Given the description of an element on the screen output the (x, y) to click on. 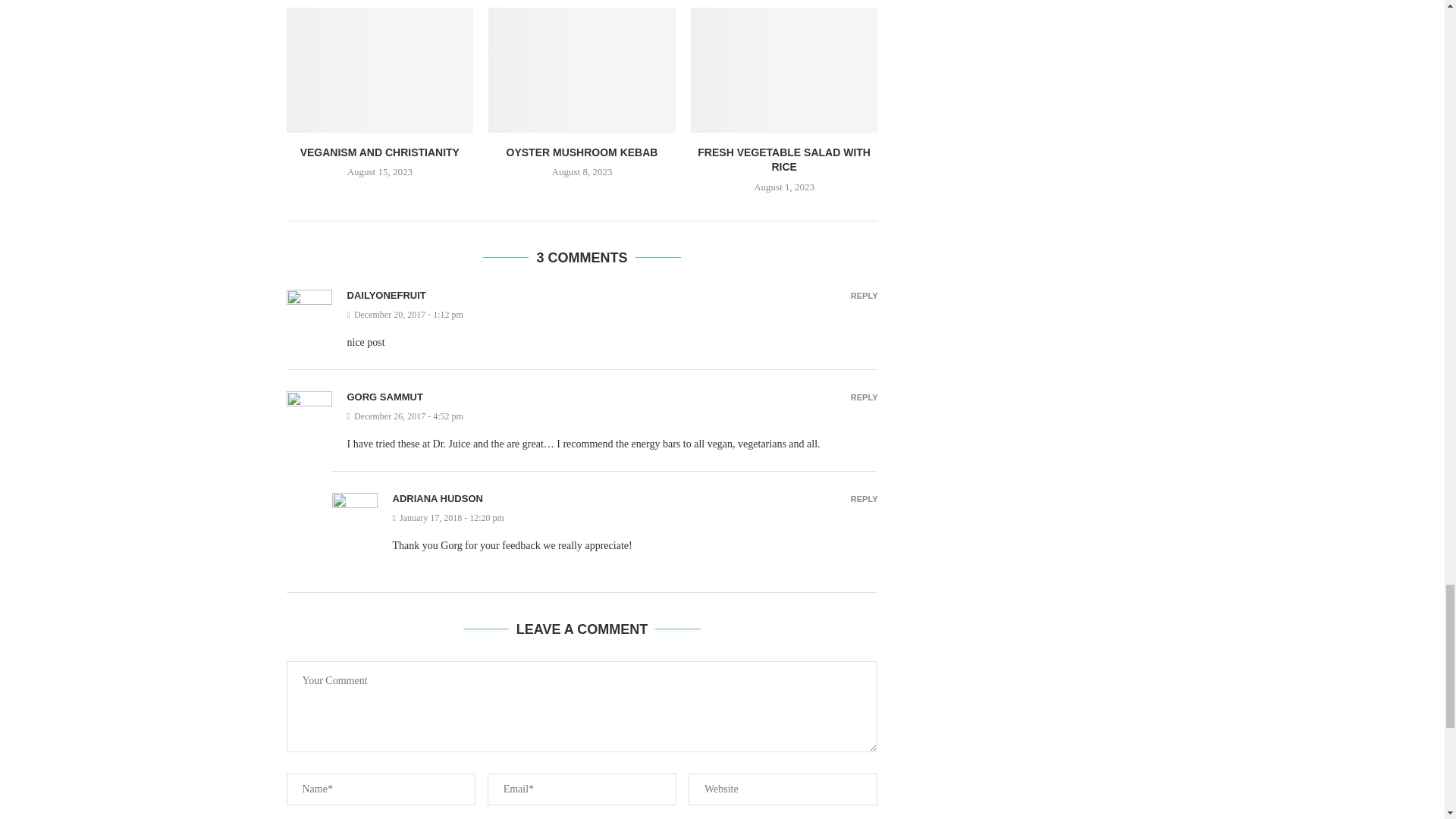
Oyster mushroom Kebab (581, 69)
Veganism and Christianity (380, 69)
Fresh vegetable salad with rice (783, 69)
